Given the description of an element on the screen output the (x, y) to click on. 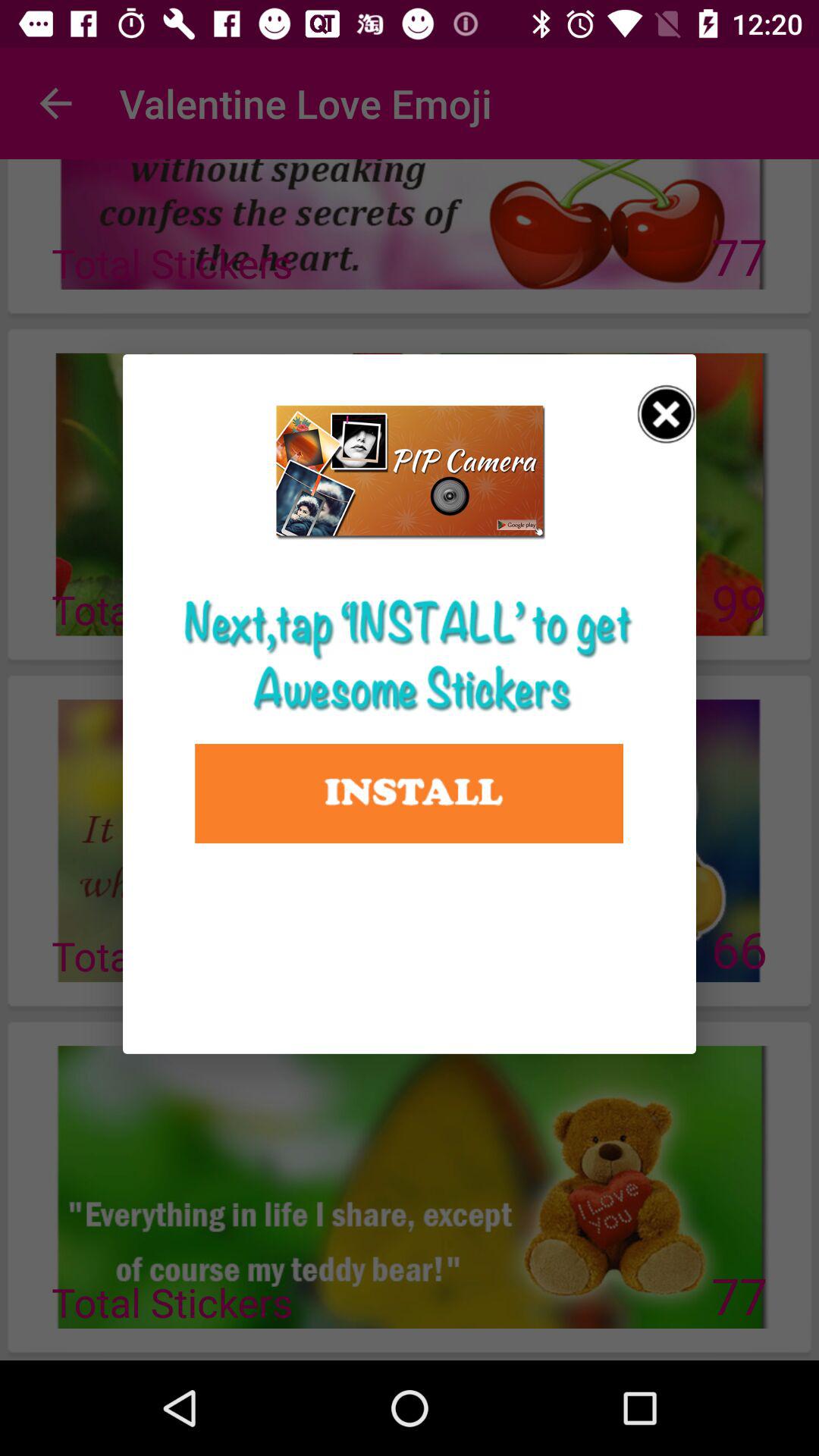
install button (409, 793)
